Given the description of an element on the screen output the (x, y) to click on. 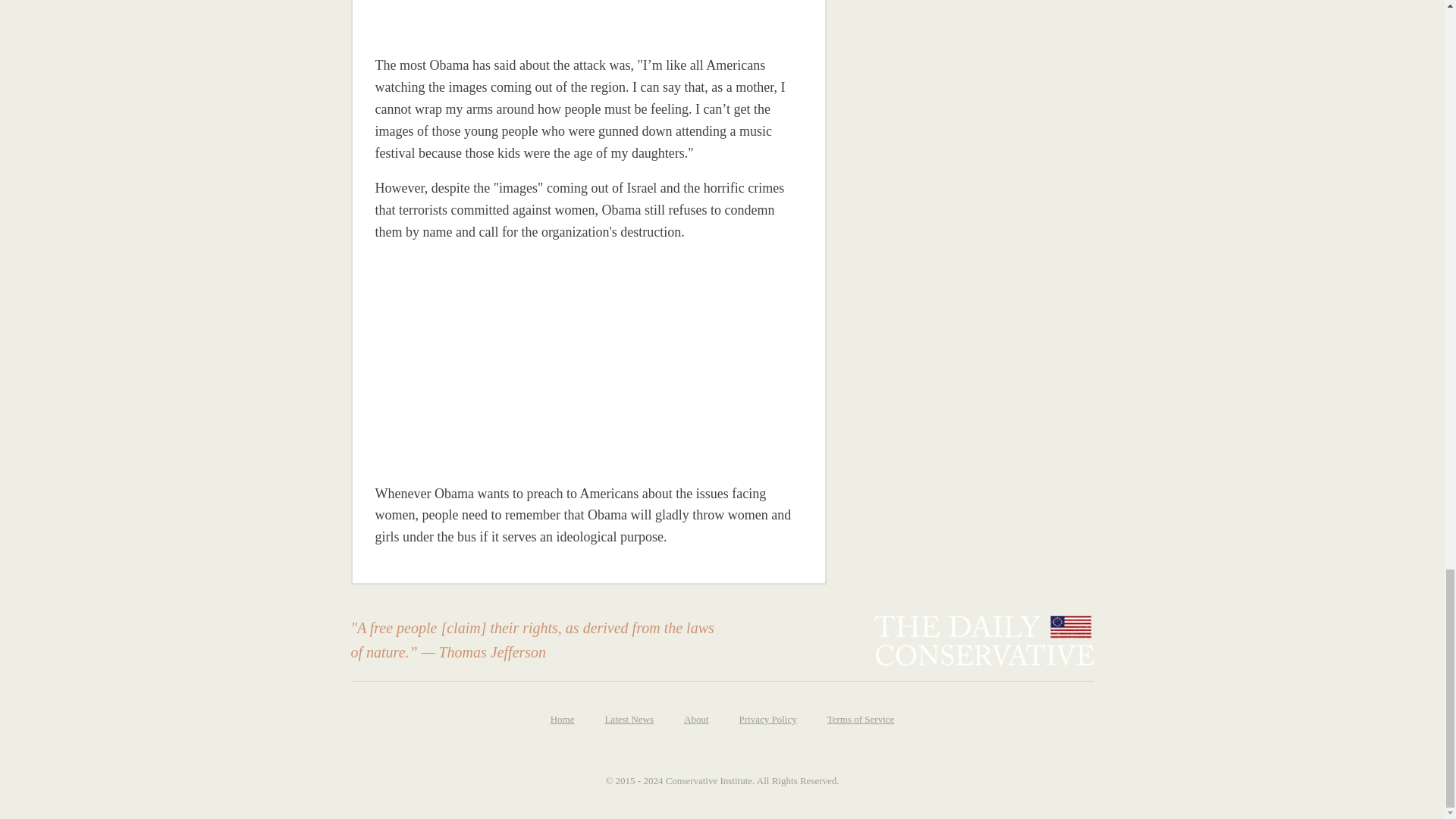
Home (562, 719)
Latest News (628, 719)
About (695, 719)
Privacy Policy (767, 719)
Advertisement (480, 17)
Advertisement (587, 363)
Terms of Service (861, 719)
